Given the description of an element on the screen output the (x, y) to click on. 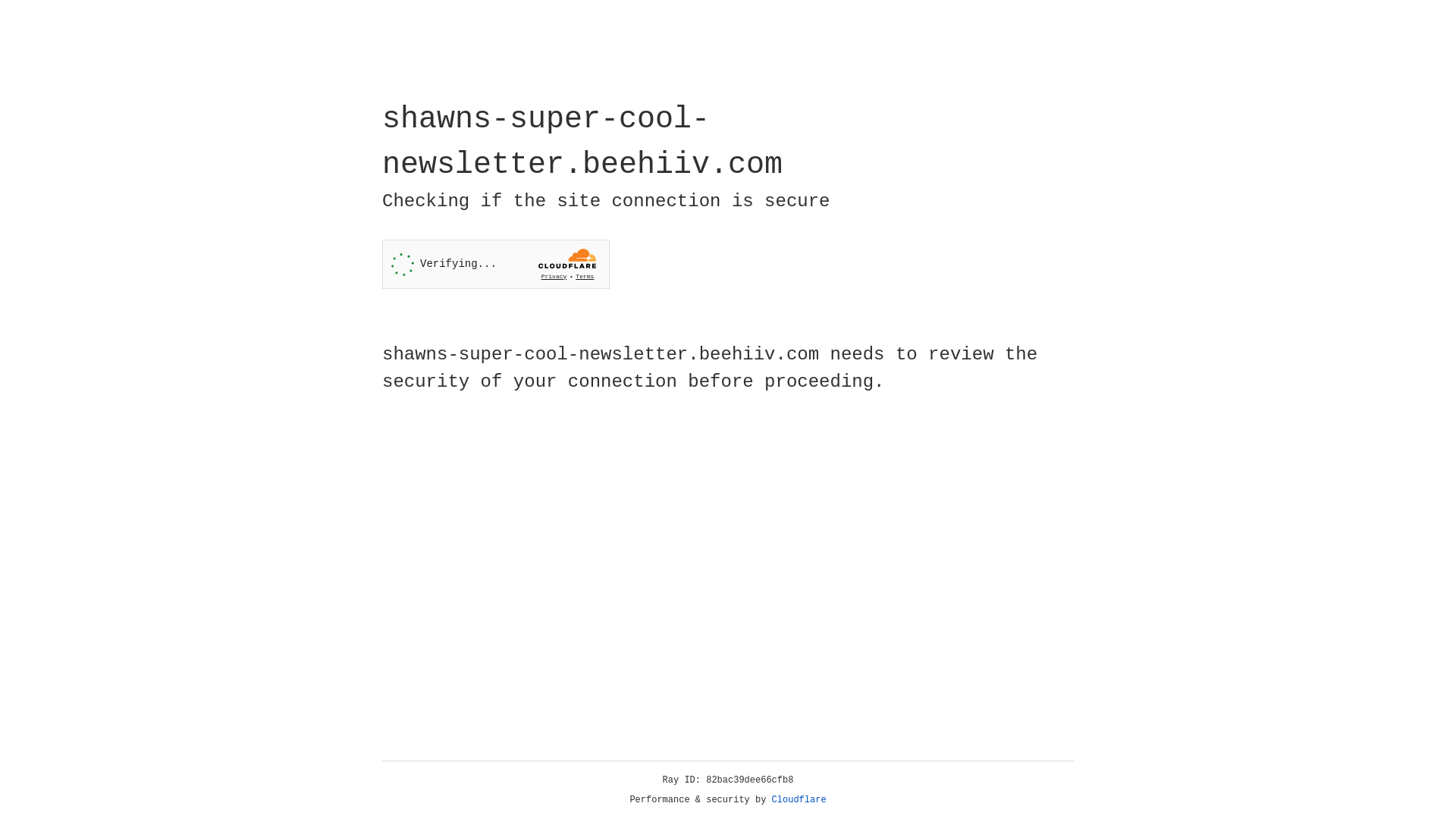
Widget containing a Cloudflare security challenge Element type: hover (495, 263)
Cloudflare Element type: text (798, 799)
